Given the description of an element on the screen output the (x, y) to click on. 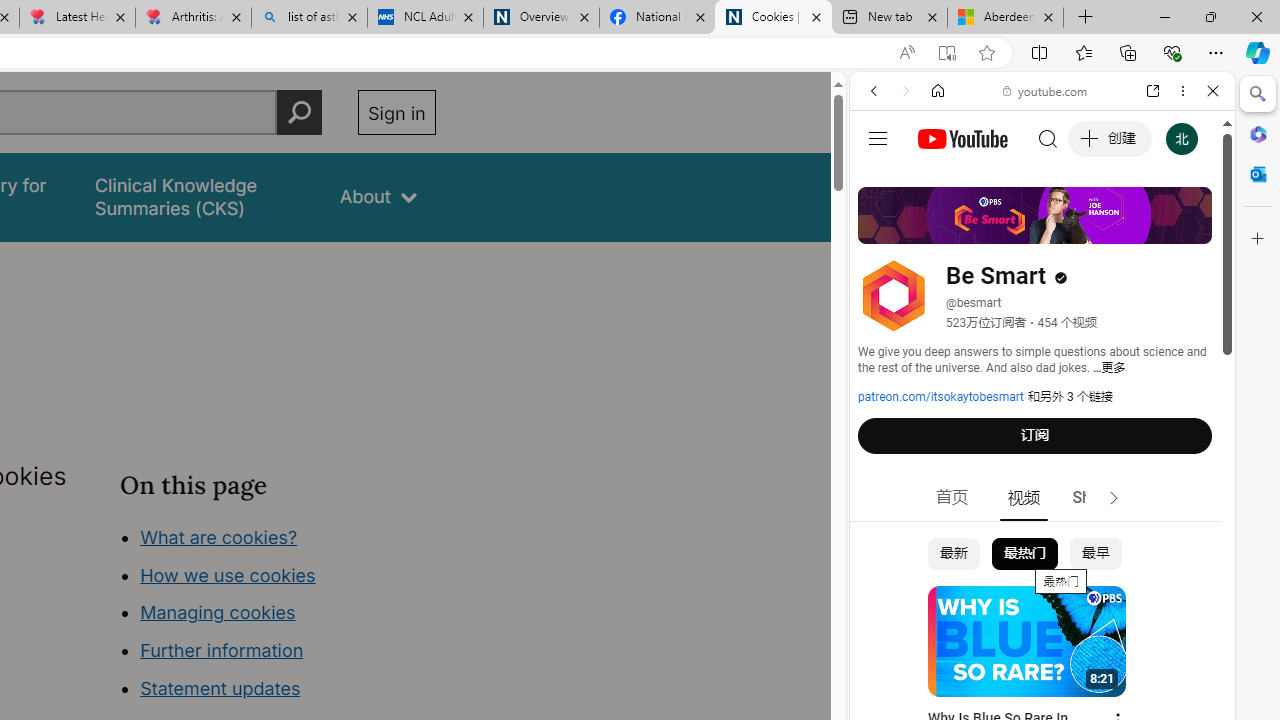
Music (1042, 543)
Statement updates (219, 688)
What are cookies? (218, 536)
patreon.com/itsokaytobesmart (941, 397)
Google (1042, 494)
